Given the description of an element on the screen output the (x, y) to click on. 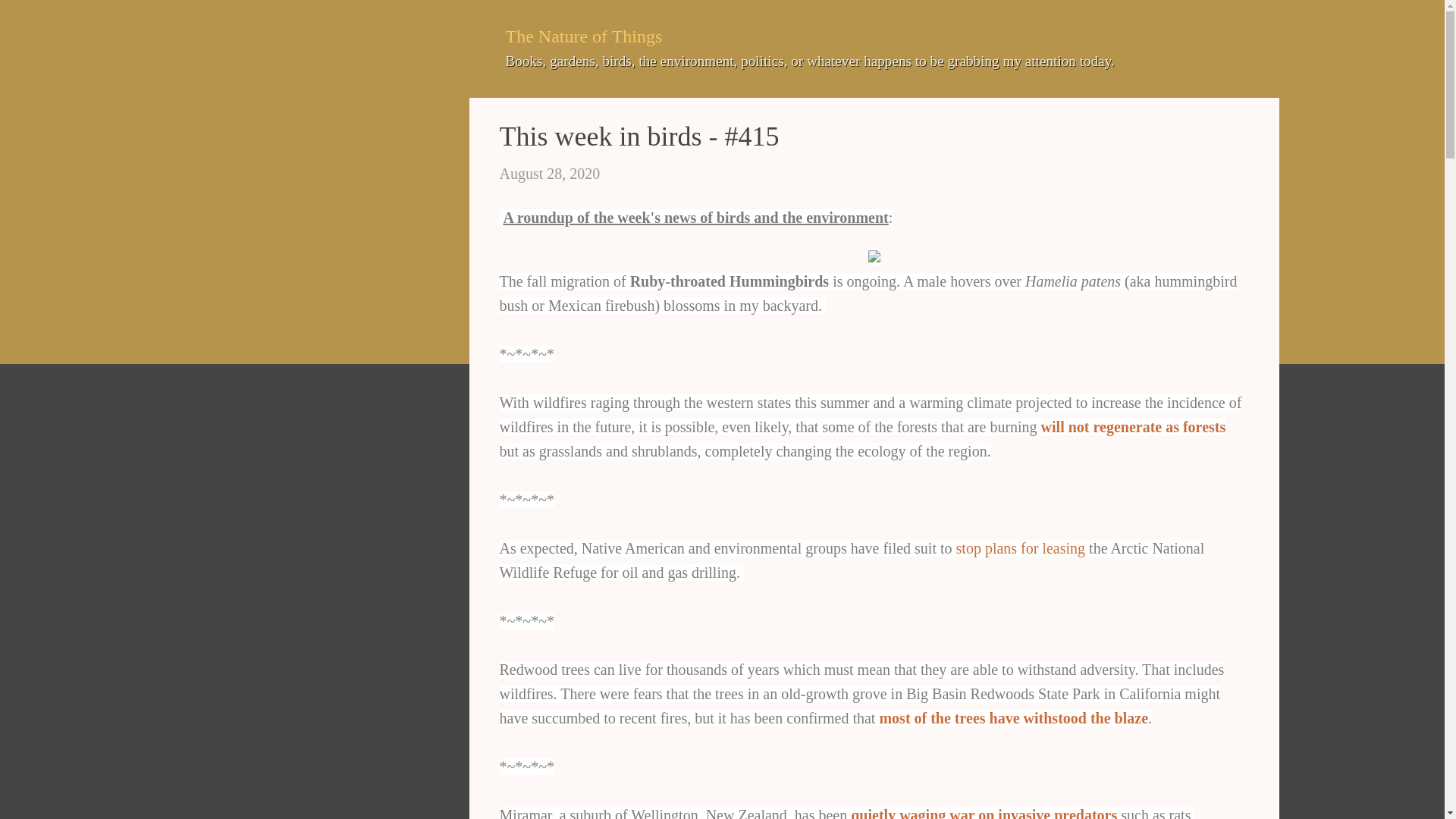
stop plans for leasing (1021, 547)
will not regenerate as forests (1133, 426)
permanent link (549, 173)
August 28, 2020 (549, 173)
most of the trees have withstood the blaze (1013, 718)
quietly waging war on invasive predators (983, 812)
The Nature of Things (583, 35)
Search (37, 18)
